Given the description of an element on the screen output the (x, y) to click on. 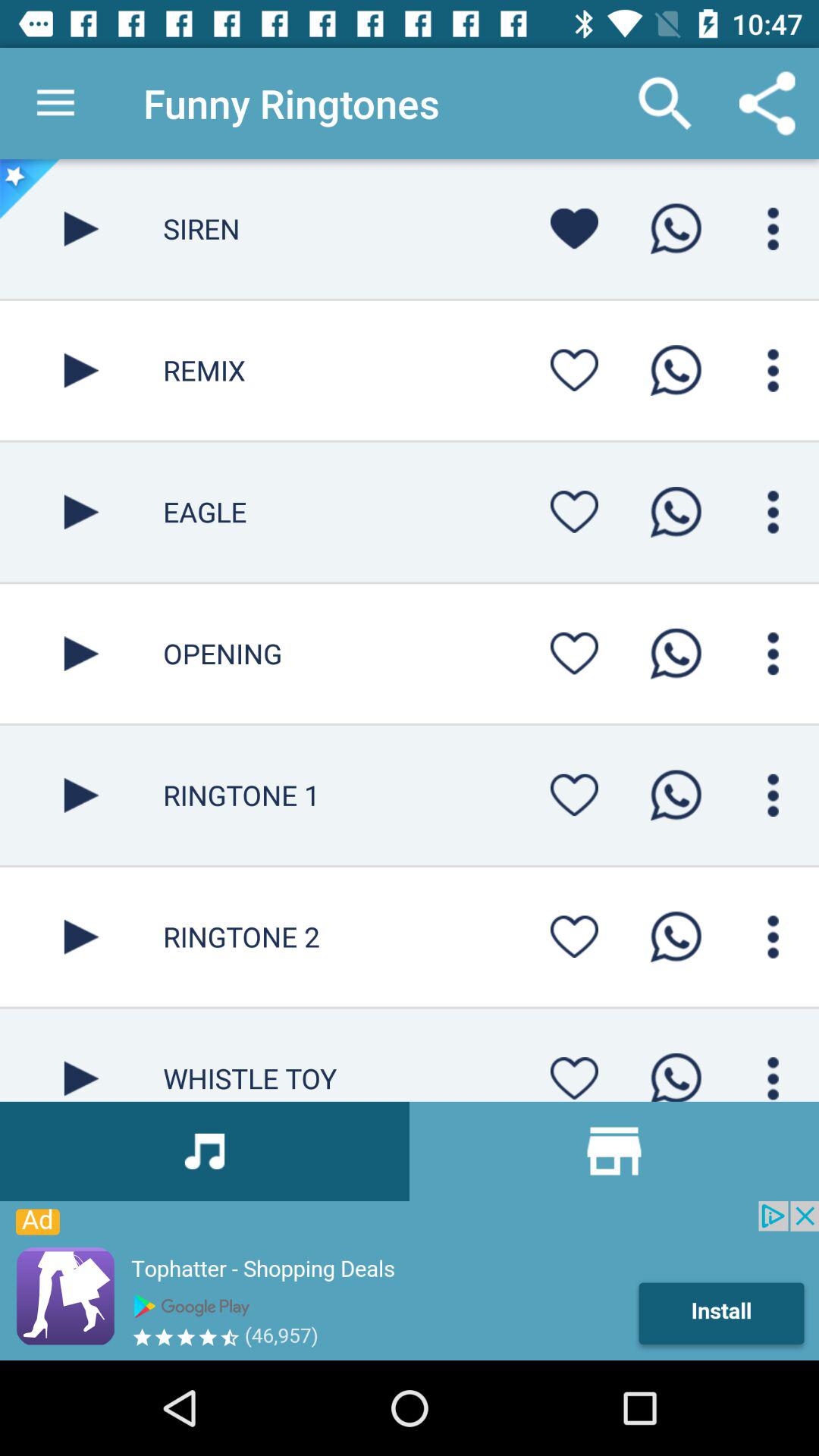
whatsapp (675, 653)
